Given the description of an element on the screen output the (x, y) to click on. 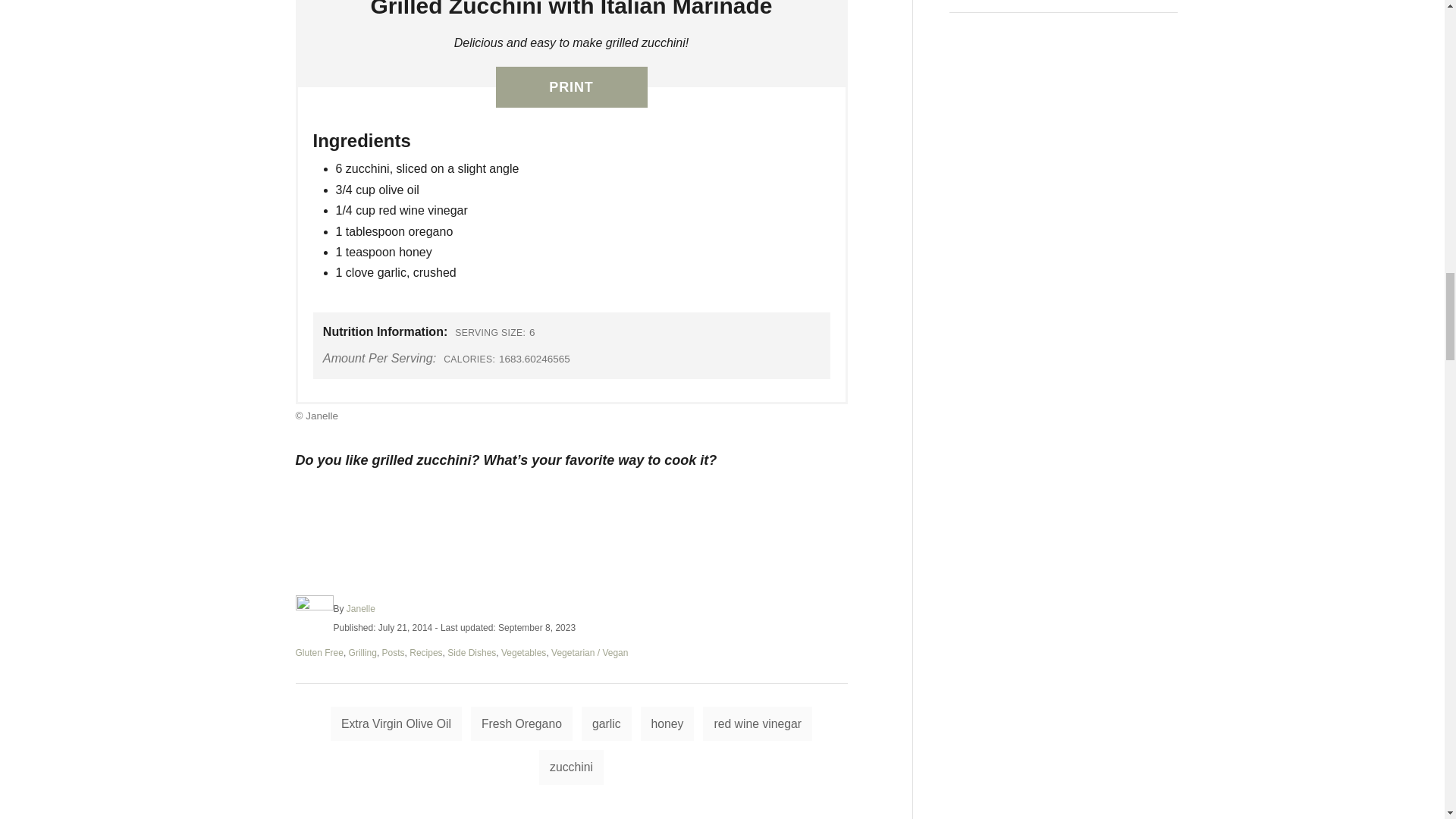
Posts (392, 652)
Gluten Free (319, 652)
Recipes (425, 652)
garlic (605, 724)
Vegetables (523, 652)
Janelle (360, 608)
red wine vinegar (757, 724)
Fresh Oregano (521, 724)
Grilling (363, 652)
Side Dishes (471, 652)
